Given the description of an element on the screen output the (x, y) to click on. 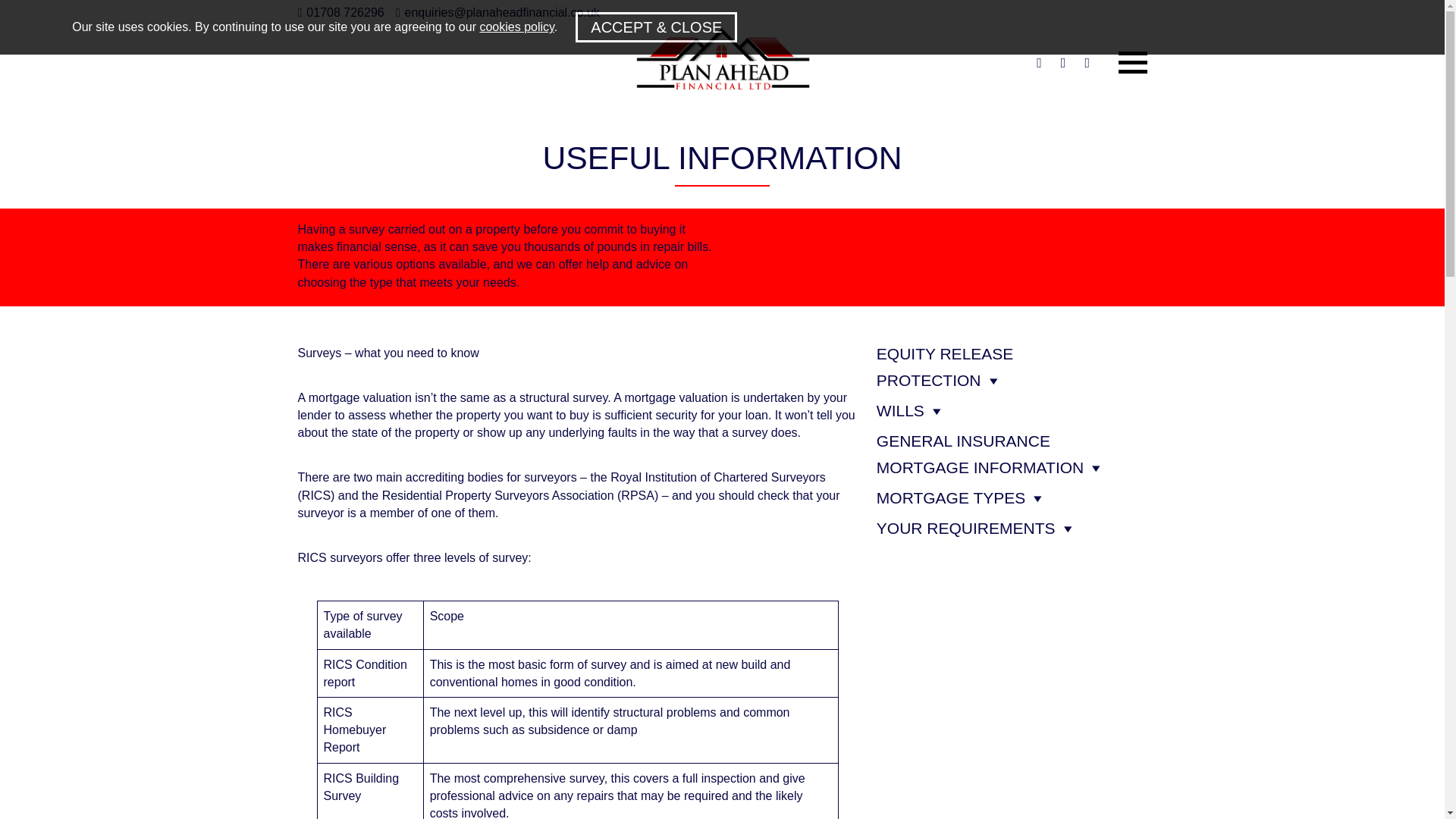
Menu (1132, 62)
PROTECTION (928, 380)
GENERAL INSURANCE (962, 440)
MORTGAGE TYPES (950, 497)
01708 726296 (340, 11)
WILLS (900, 410)
EQUITY RELEASE (944, 353)
MORTGAGE INFORMATION (979, 466)
Page 8 (505, 255)
